Given the description of an element on the screen output the (x, y) to click on. 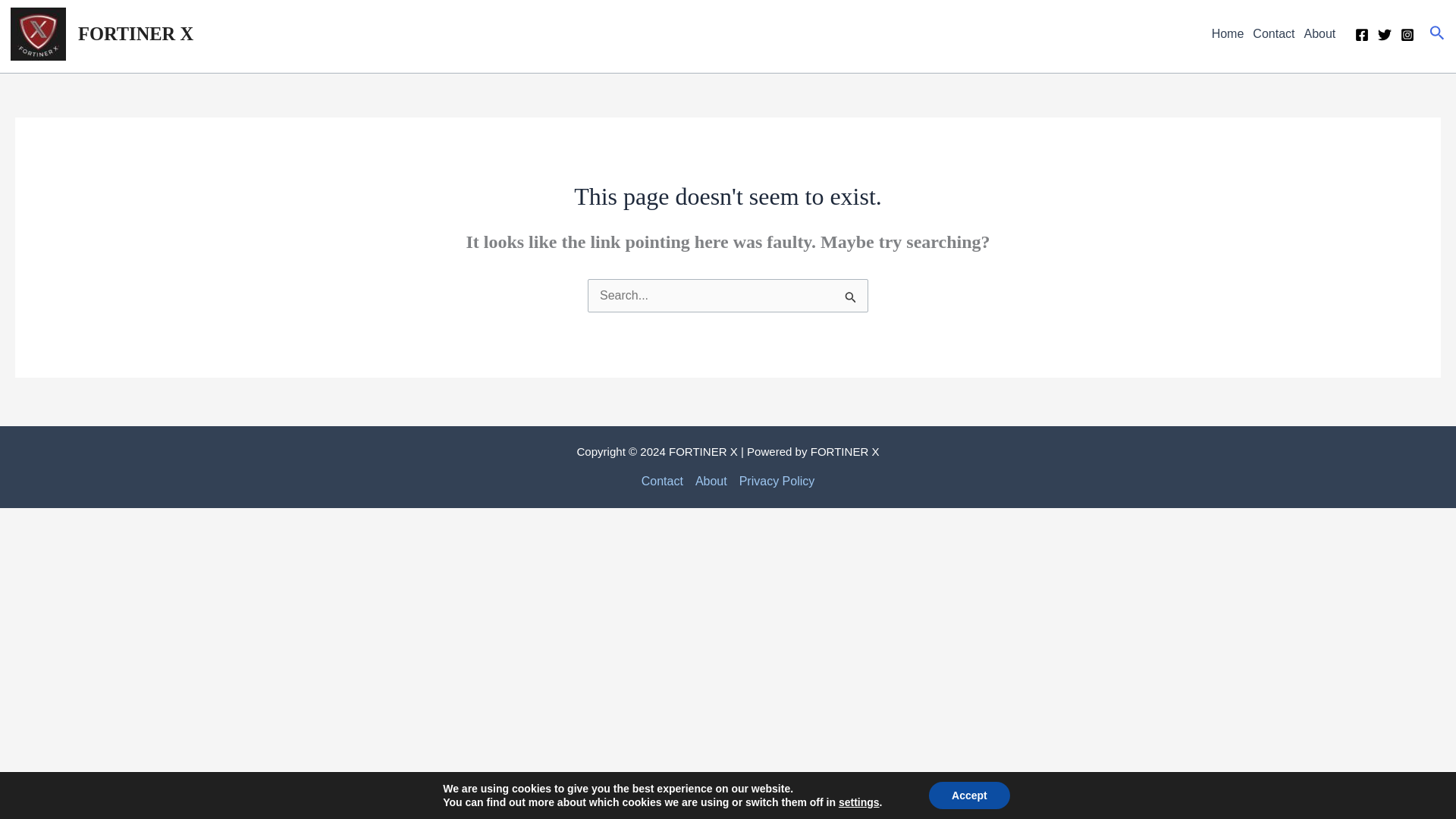
settings (858, 802)
Privacy Policy (774, 481)
Accept (969, 795)
FORTINER X (135, 33)
Home (1228, 33)
About (710, 481)
Contact (1272, 33)
About (1318, 33)
Contact (665, 481)
